Given the description of an element on the screen output the (x, y) to click on. 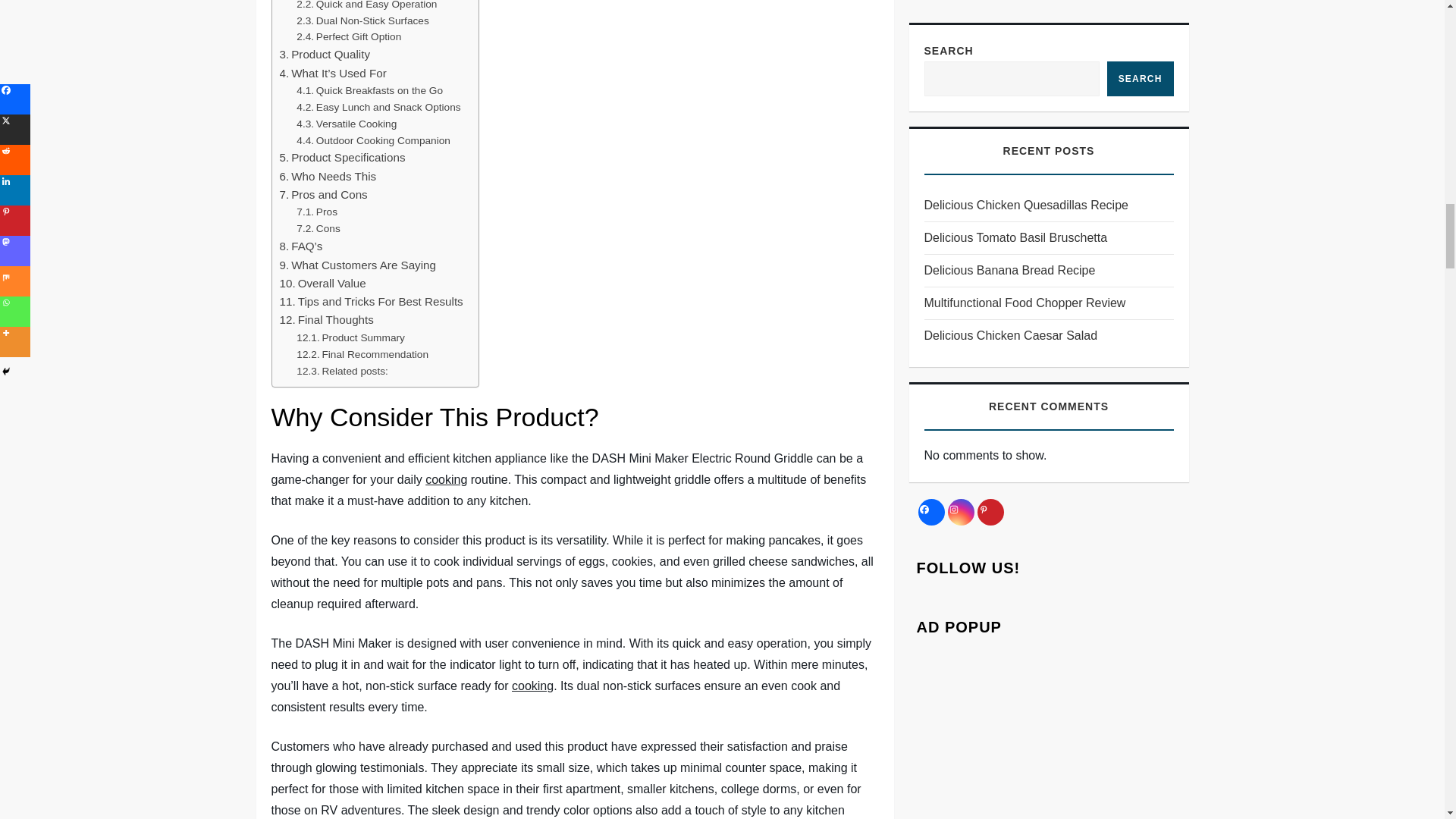
Pros (317, 211)
Perfect Gift Option (349, 36)
Who Needs This (327, 176)
Quick Breakfasts on the Go (369, 90)
Dual Non-Stick Surfaces (363, 20)
Product Quality (324, 54)
Product Quality (324, 54)
Product Specifications (341, 157)
Easy Lunch and Snack Options (378, 107)
Quick and Easy Operation (366, 6)
Dual Non-Stick Surfaces (363, 20)
Pros and Cons (322, 194)
Perfect Gift Option (349, 36)
Quick and Easy Operation (366, 6)
Outdoor Cooking Companion (373, 140)
